Given the description of an element on the screen output the (x, y) to click on. 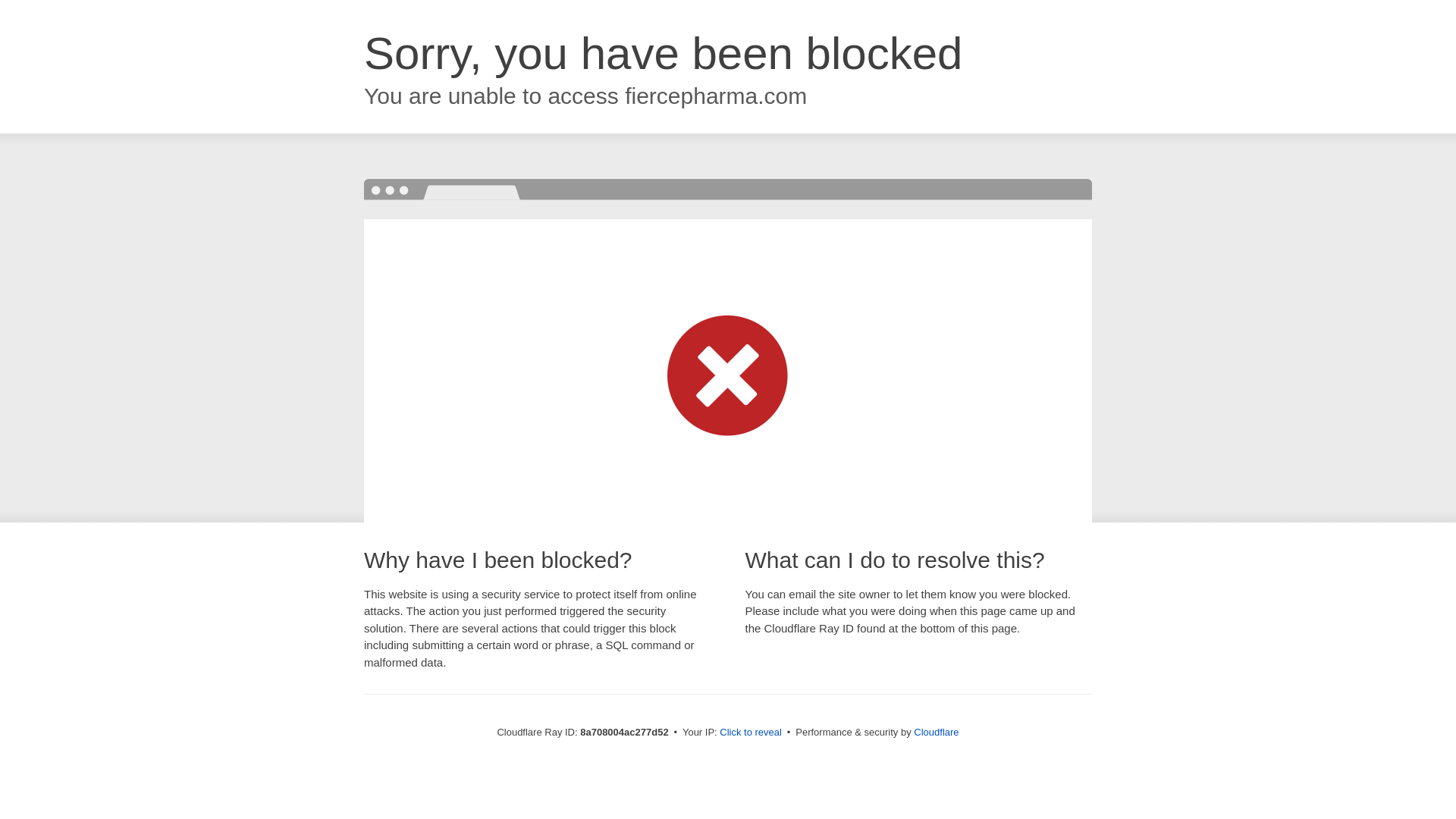
Cloudflare (936, 731)
Click to reveal (750, 732)
